Given the description of an element on the screen output the (x, y) to click on. 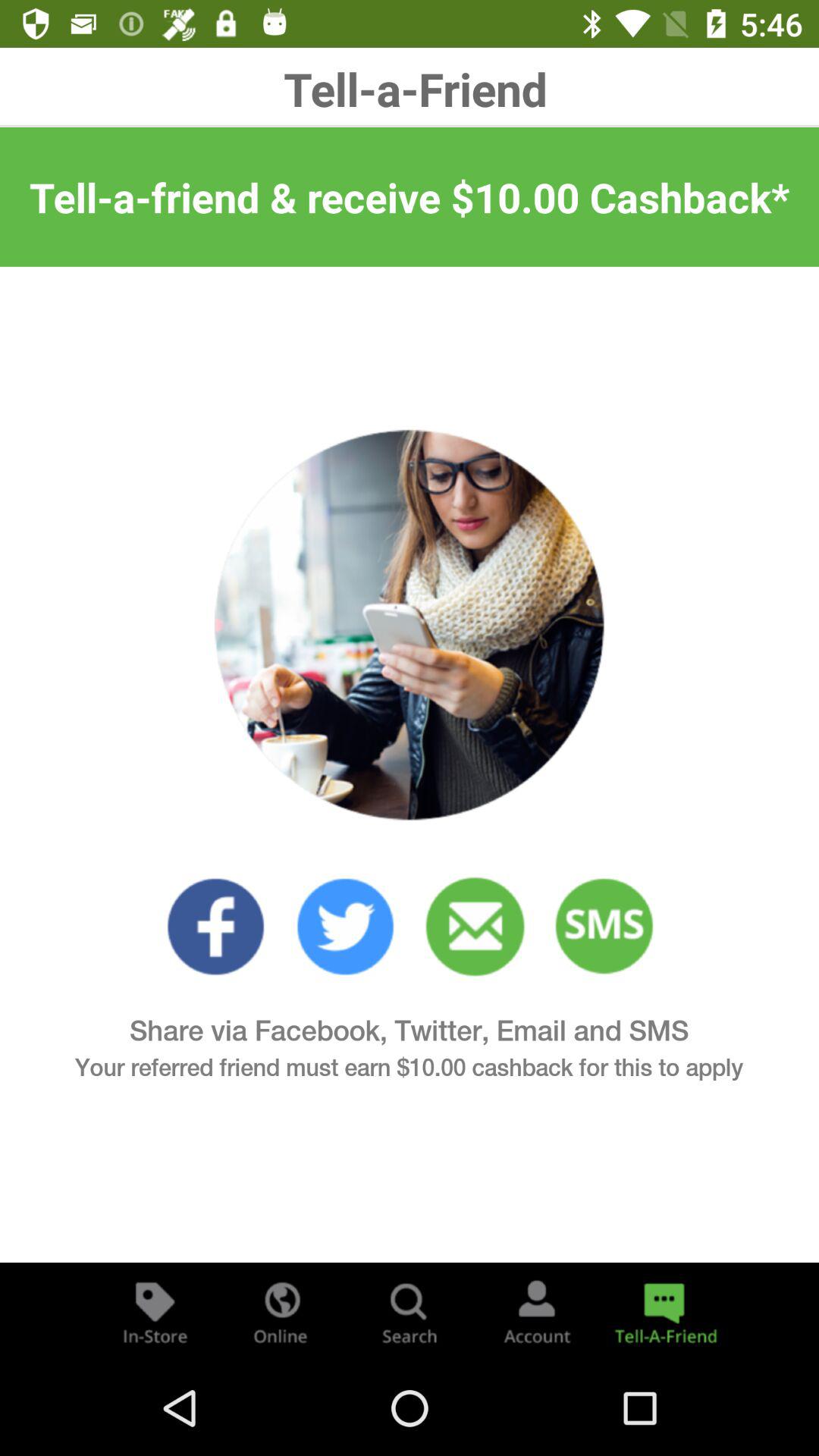
go to account (536, 1311)
